Given the description of an element on the screen output the (x, y) to click on. 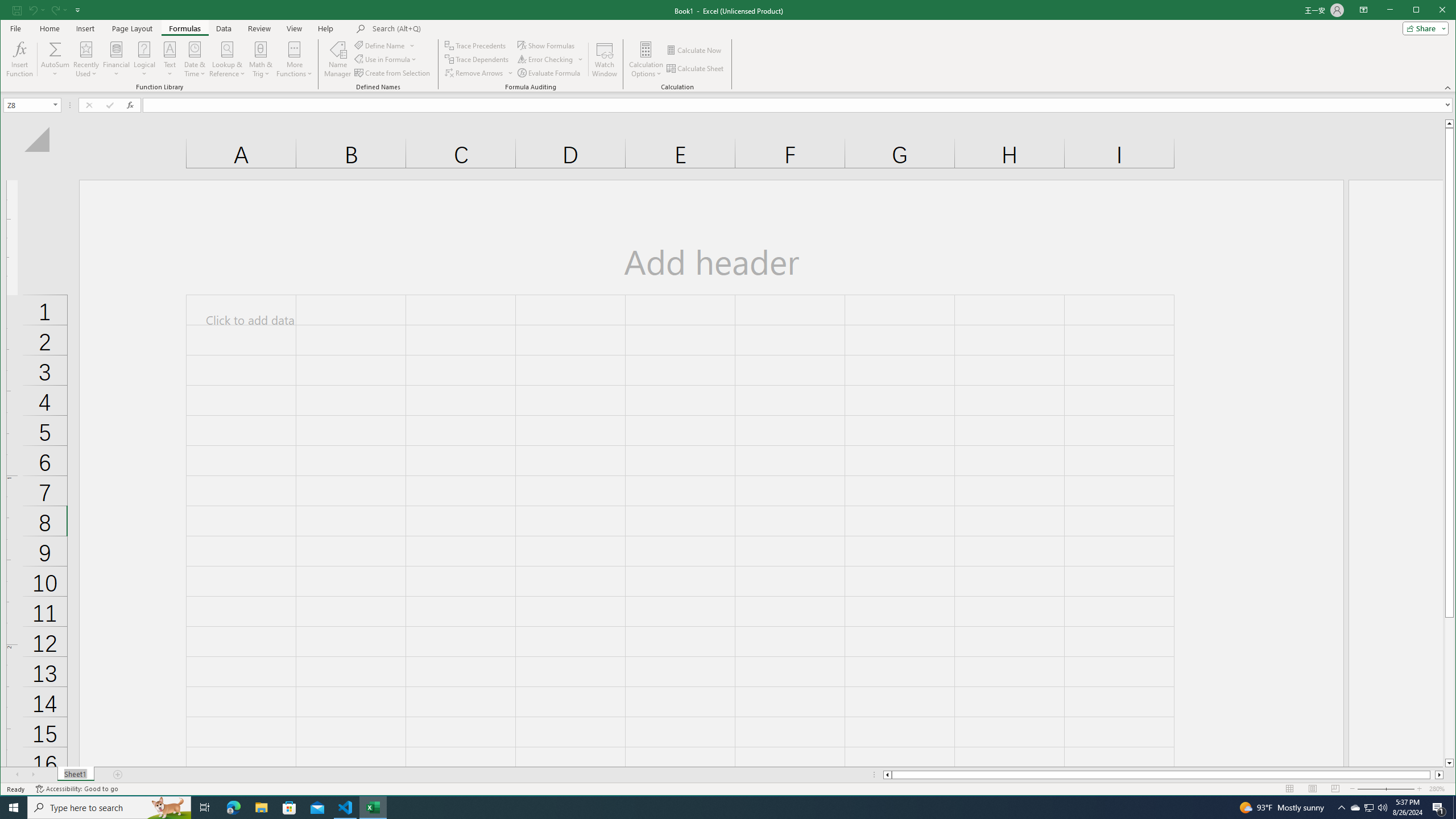
Watch Window (1368, 807)
Date & Time (604, 59)
Define Name... (194, 59)
Calculate Sheet (379, 45)
Excel - 1 running window (696, 68)
Evaluate Formula (373, 807)
Sum (549, 72)
